Given the description of an element on the screen output the (x, y) to click on. 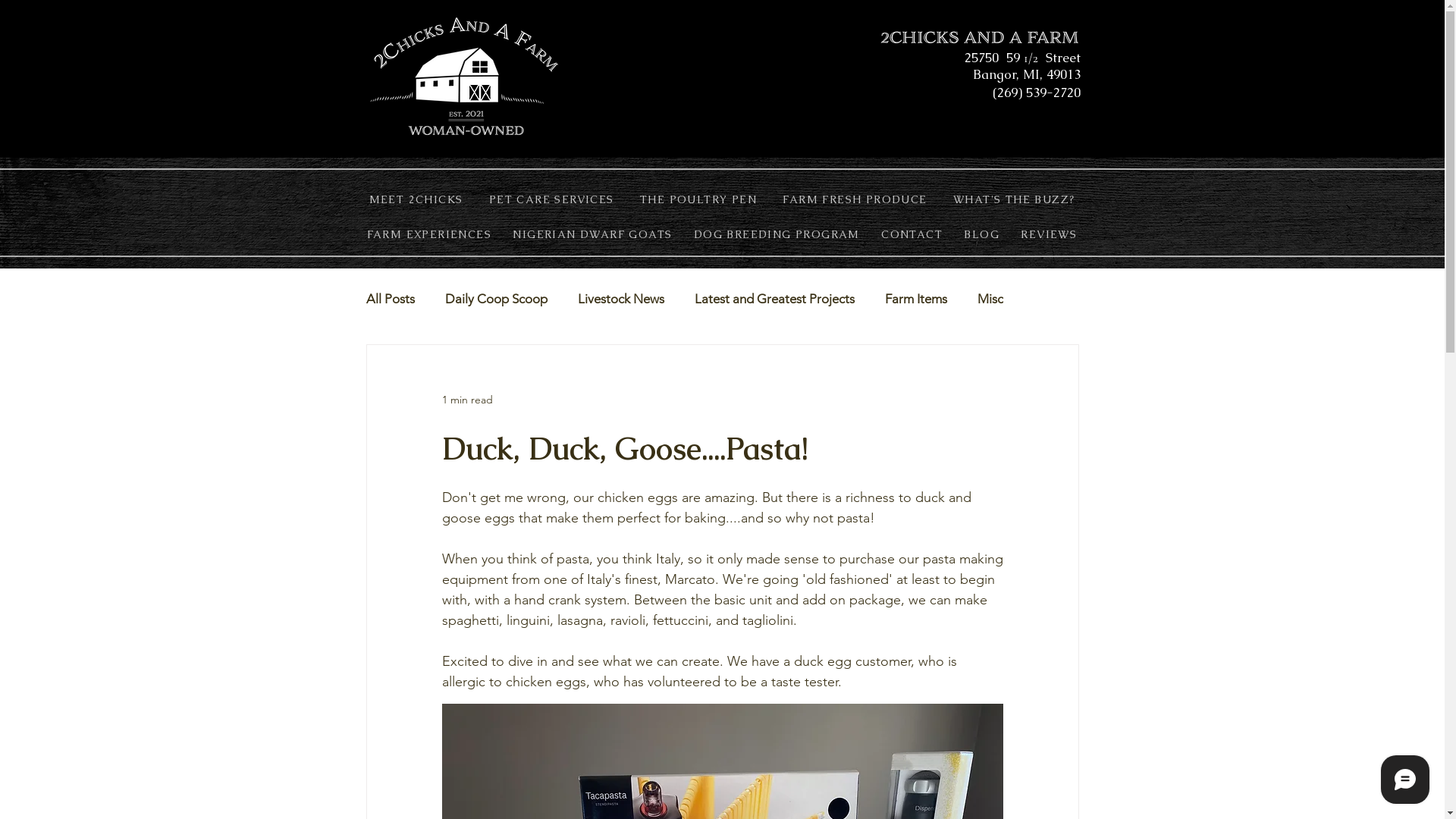
(269) 539-2720 Element type: text (1035, 92)
NIGERIAN DWARF GOATS Element type: text (592, 233)
PET CARE SERVICES Element type: text (551, 199)
CONTACT Element type: text (911, 233)
THE POULTRY PEN Element type: text (698, 199)
MEET 2CHICKS Element type: text (415, 199)
FARM FRESH PRODUCE Element type: text (854, 199)
FARM EXPERIENCES Element type: text (428, 233)
Latest and Greatest Projects Element type: text (774, 298)
Misc Element type: text (989, 298)
REVIEWS Element type: text (1048, 233)
BLOG Element type: text (981, 233)
DOG BREEDING PROGRAM Element type: text (776, 233)
Livestock News Element type: text (620, 298)
Farm Items Element type: text (915, 298)
WHAT'S THE BUZZ? Element type: text (1013, 199)
All Posts Element type: text (389, 298)
Daily Coop Scoop Element type: text (495, 298)
